Given the description of an element on the screen output the (x, y) to click on. 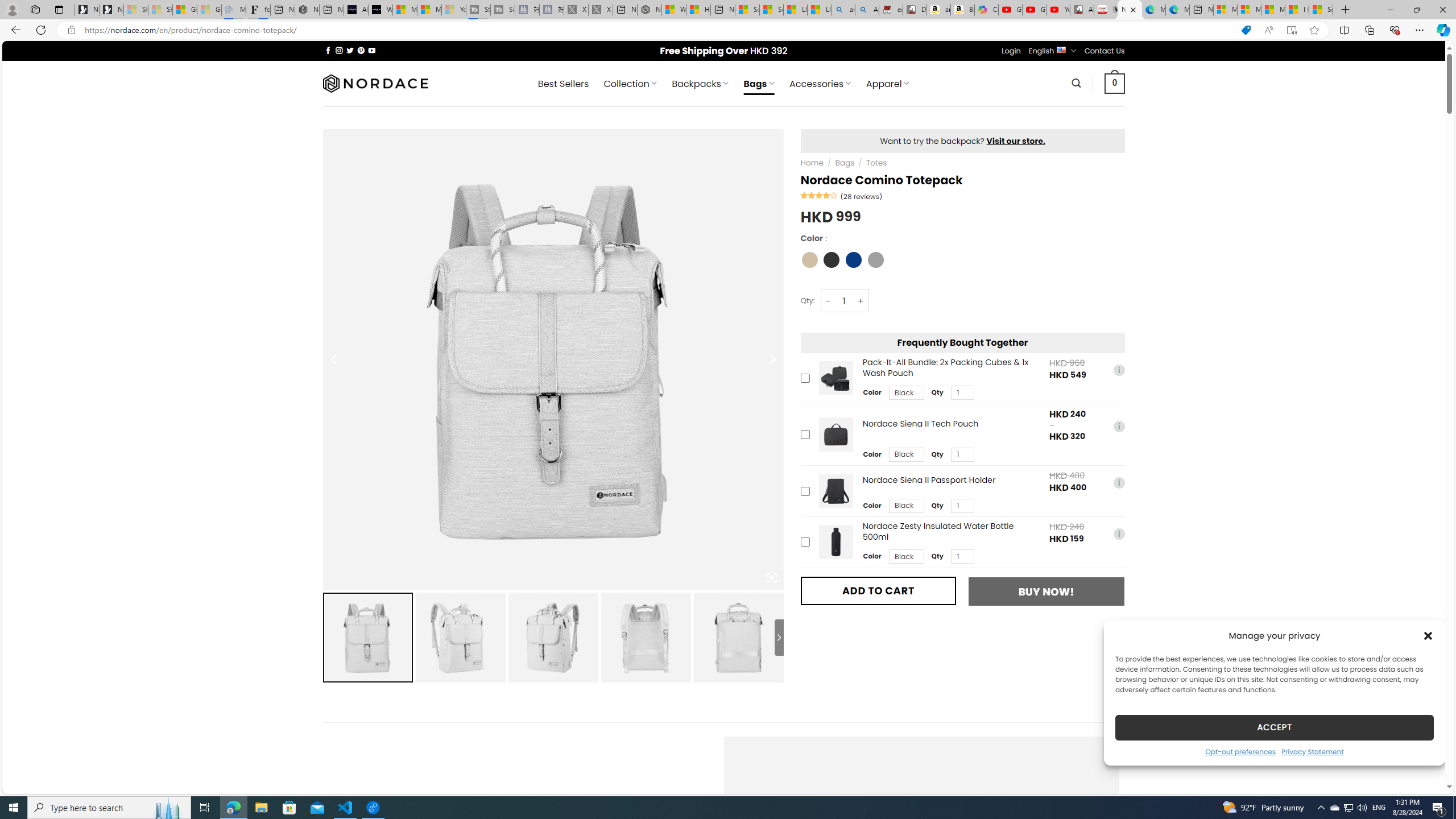
Follow on Instagram (338, 49)
AI Voice Changer for PC and Mac - Voice.ai (355, 9)
ADD TO CART (878, 590)
  0   (1115, 83)
 0  (1115, 83)
Privacy Statement (1312, 750)
ACCEPT (1274, 727)
Add this product to cart (804, 542)
